Given the description of an element on the screen output the (x, y) to click on. 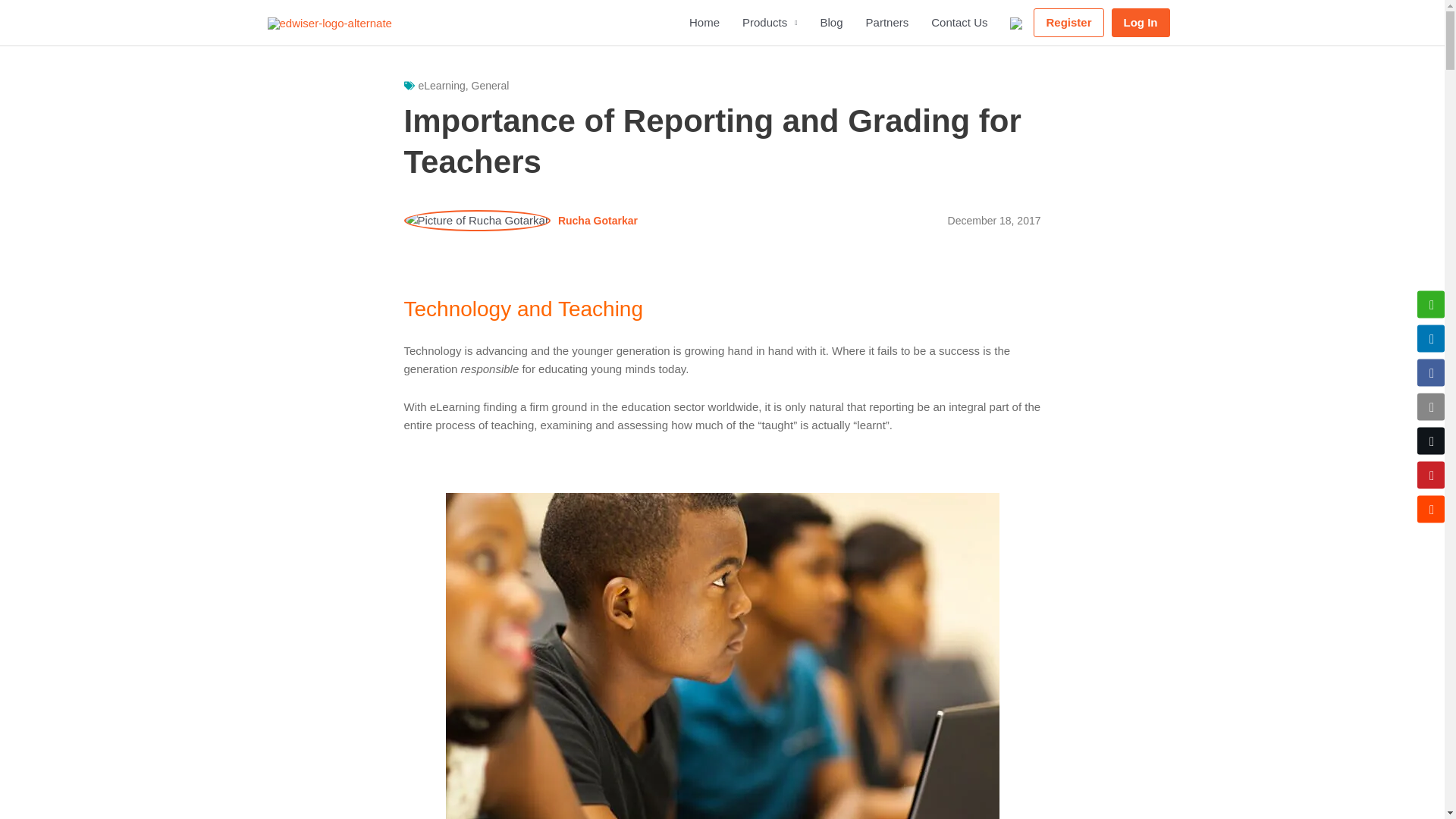
Partners (887, 22)
Products (769, 22)
Home (704, 22)
Log In (1141, 22)
General (490, 85)
Blog (831, 22)
Contact Us (959, 22)
eLearning (442, 85)
Register (1068, 22)
